Given the description of an element on the screen output the (x, y) to click on. 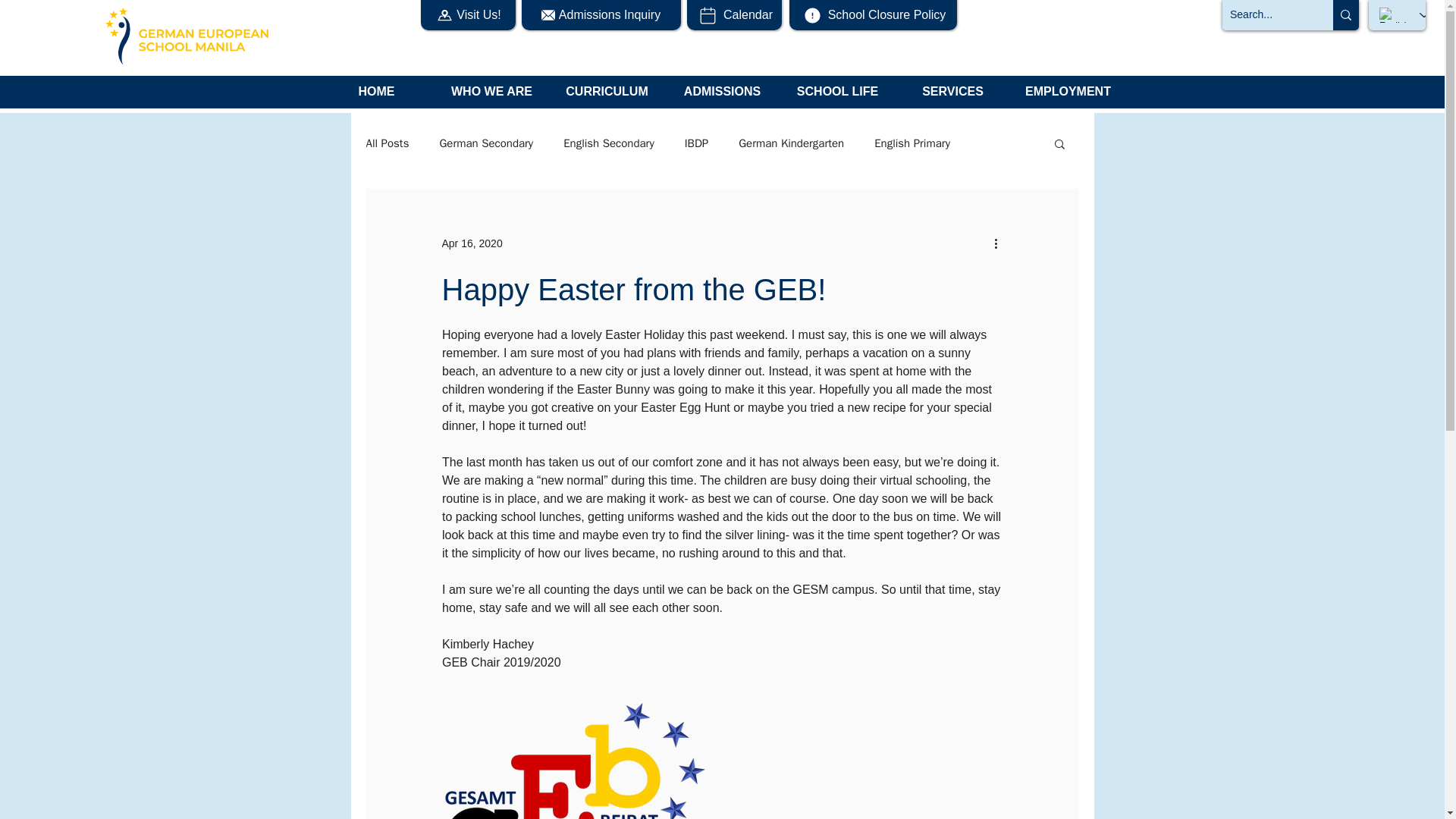
Admissions Inquiry (601, 15)
EMPLOYMENT (1067, 96)
All Posts (387, 143)
SCHOOL LIFE (836, 96)
German Kindergarten (791, 143)
Calendar (734, 15)
English Primary (912, 143)
English Secondary (608, 143)
WHO WE ARE (490, 96)
CURRICULUM (605, 96)
